Given the description of an element on the screen output the (x, y) to click on. 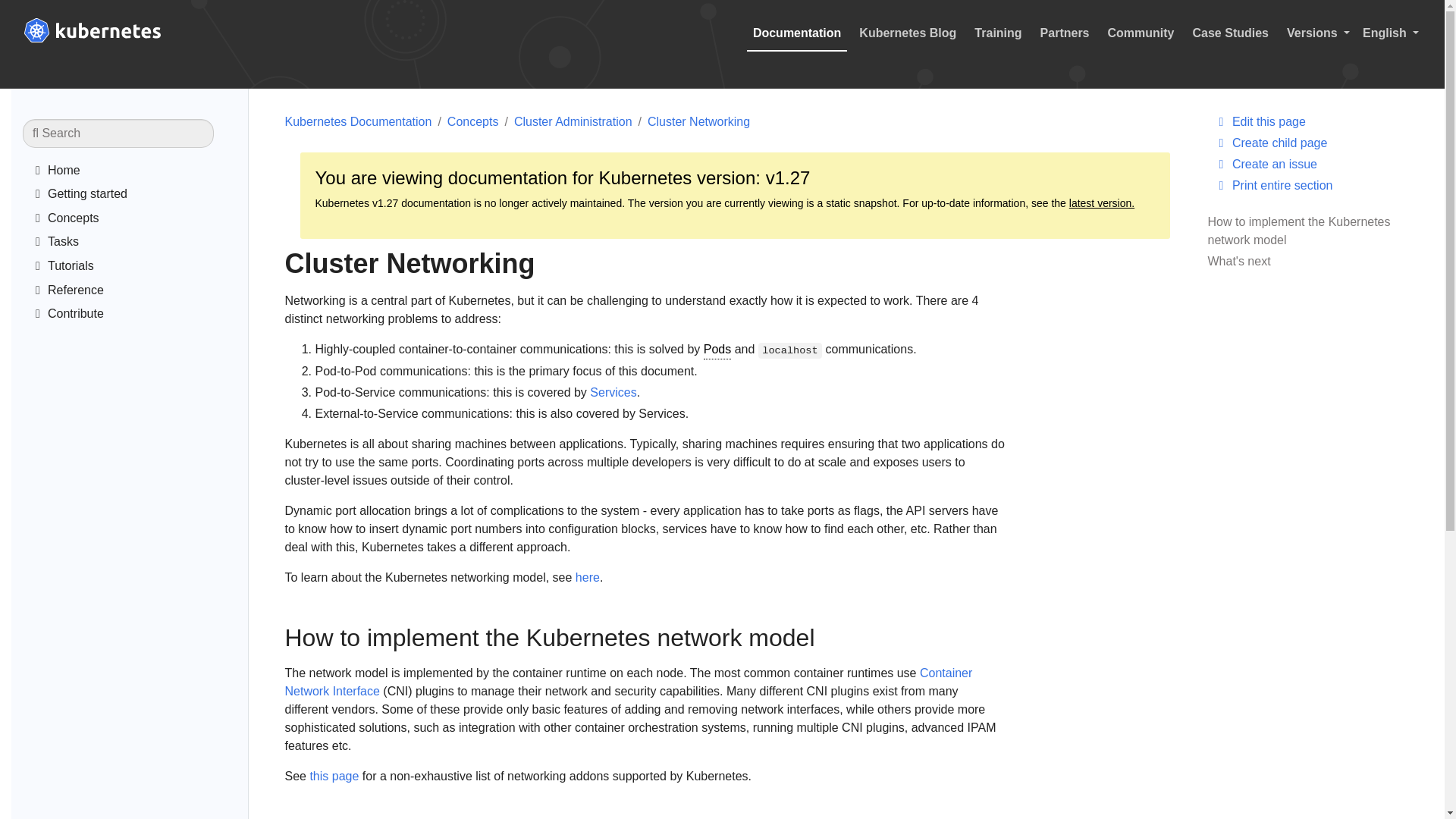
Documentation (796, 33)
Getting started (138, 196)
Contribute to K8s docs (138, 315)
Home (138, 172)
Kubernetes Blog (907, 33)
Case Studies (1230, 33)
Partners (1064, 33)
Versions (1318, 33)
Kubernetes Documentation (138, 172)
Community (1141, 33)
Training (997, 33)
English (1394, 33)
